Given the description of an element on the screen output the (x, y) to click on. 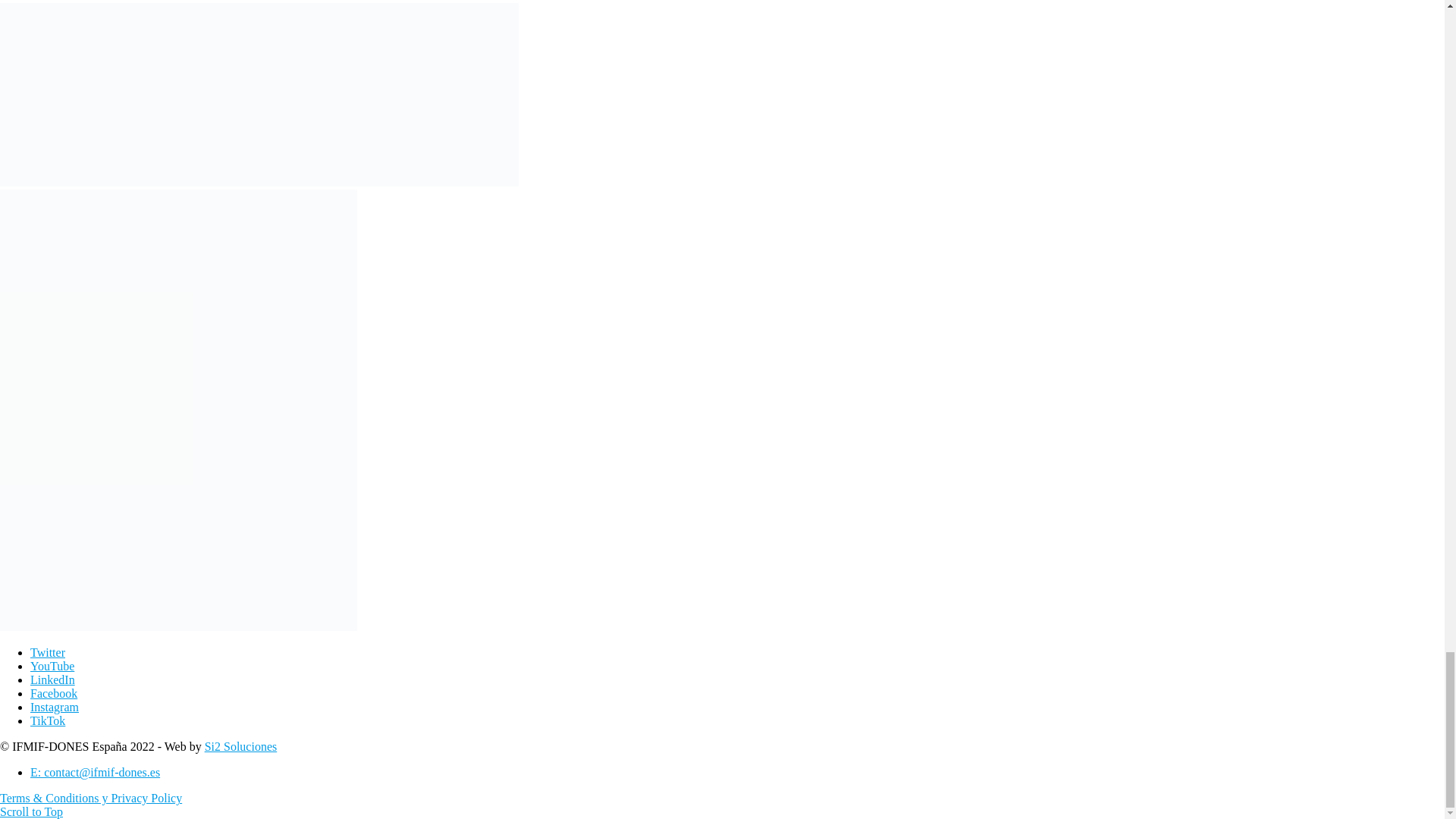
Scroll to Top (31, 811)
